Given the description of an element on the screen output the (x, y) to click on. 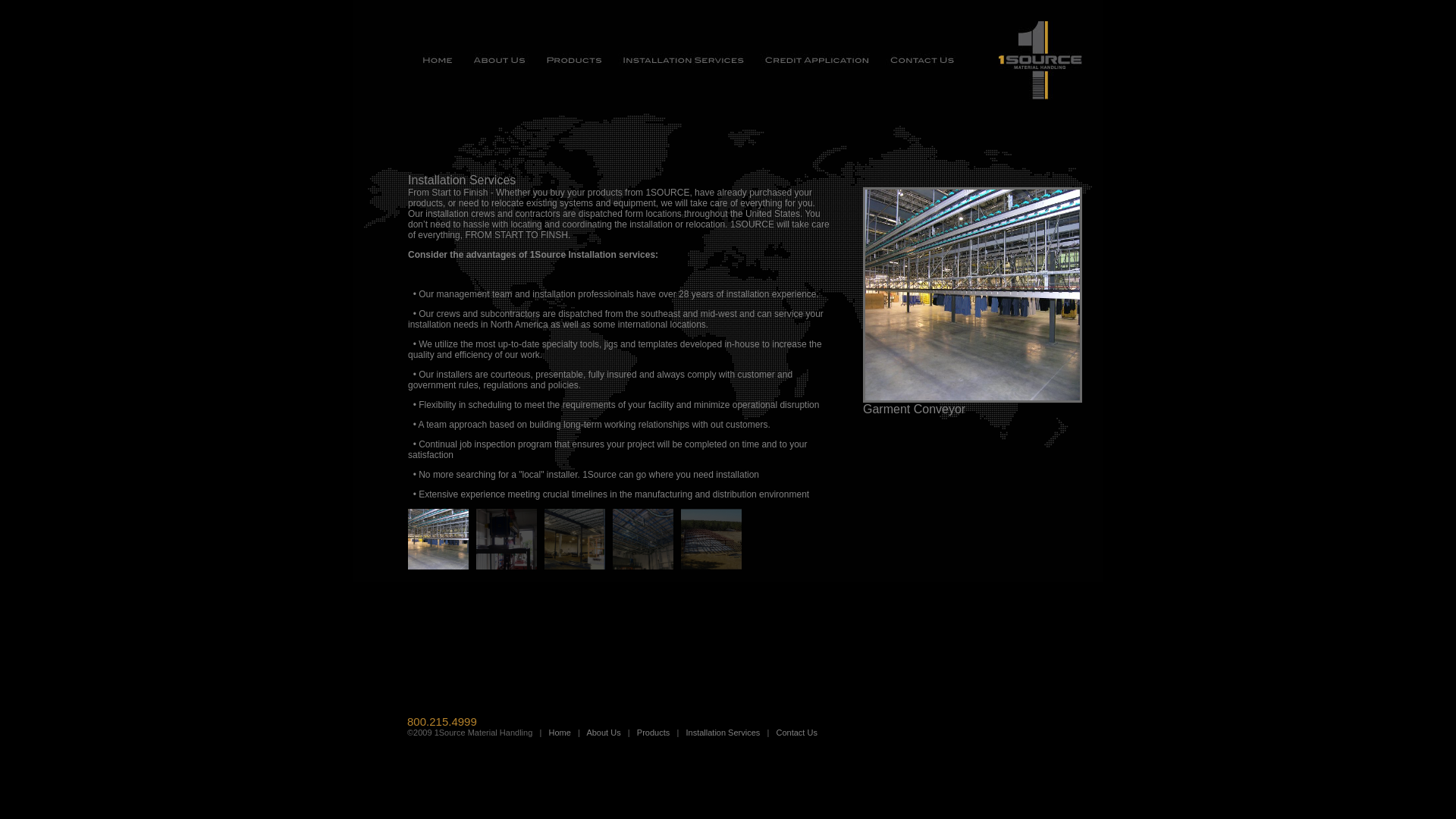
Garment Conveyor / tunnel Element type: hover (642, 538)
Structural Mezzanines Element type: hover (574, 538)
credit application Element type: text (816, 60)
home Element type: text (441, 60)
Next image >> Element type: hover (972, 294)
contact us Element type: text (916, 60)
Contact Us Element type: text (796, 732)
Machine Attachment Element type: hover (505, 538)
products Element type: text (572, 60)
About Us Element type: text (603, 732)
Garment Conveyor Element type: hover (437, 538)
installation services Element type: text (682, 60)
Metal Building Element type: hover (710, 538)
Products Element type: text (653, 732)
Installation Services Element type: text (722, 732)
Home Element type: text (559, 732)
about us Element type: text (497, 60)
